Given the description of an element on the screen output the (x, y) to click on. 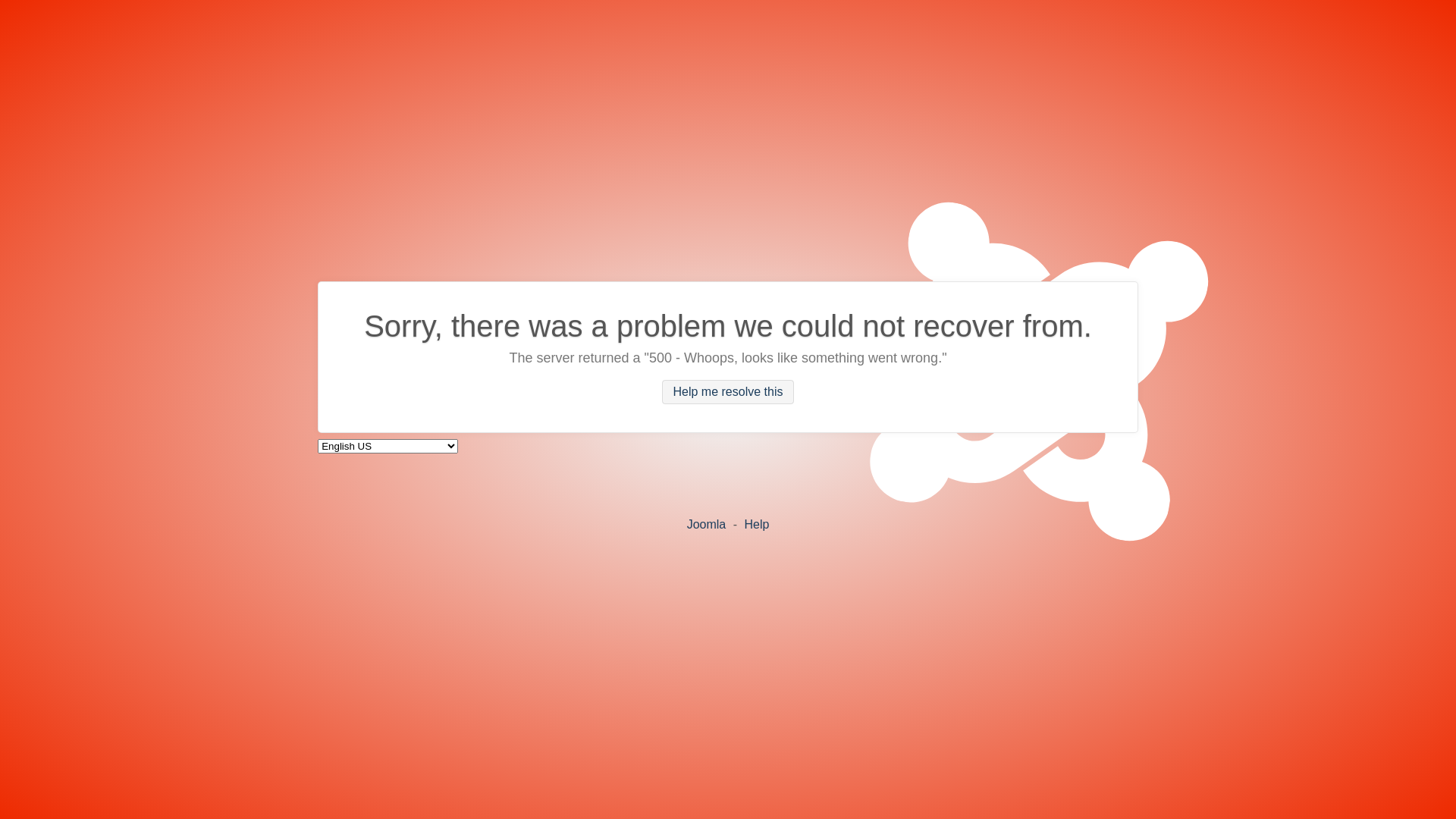
Help me resolve this Element type: text (727, 391)
Help Element type: text (755, 523)
Joomla Element type: text (706, 523)
